Given the description of an element on the screen output the (x, y) to click on. 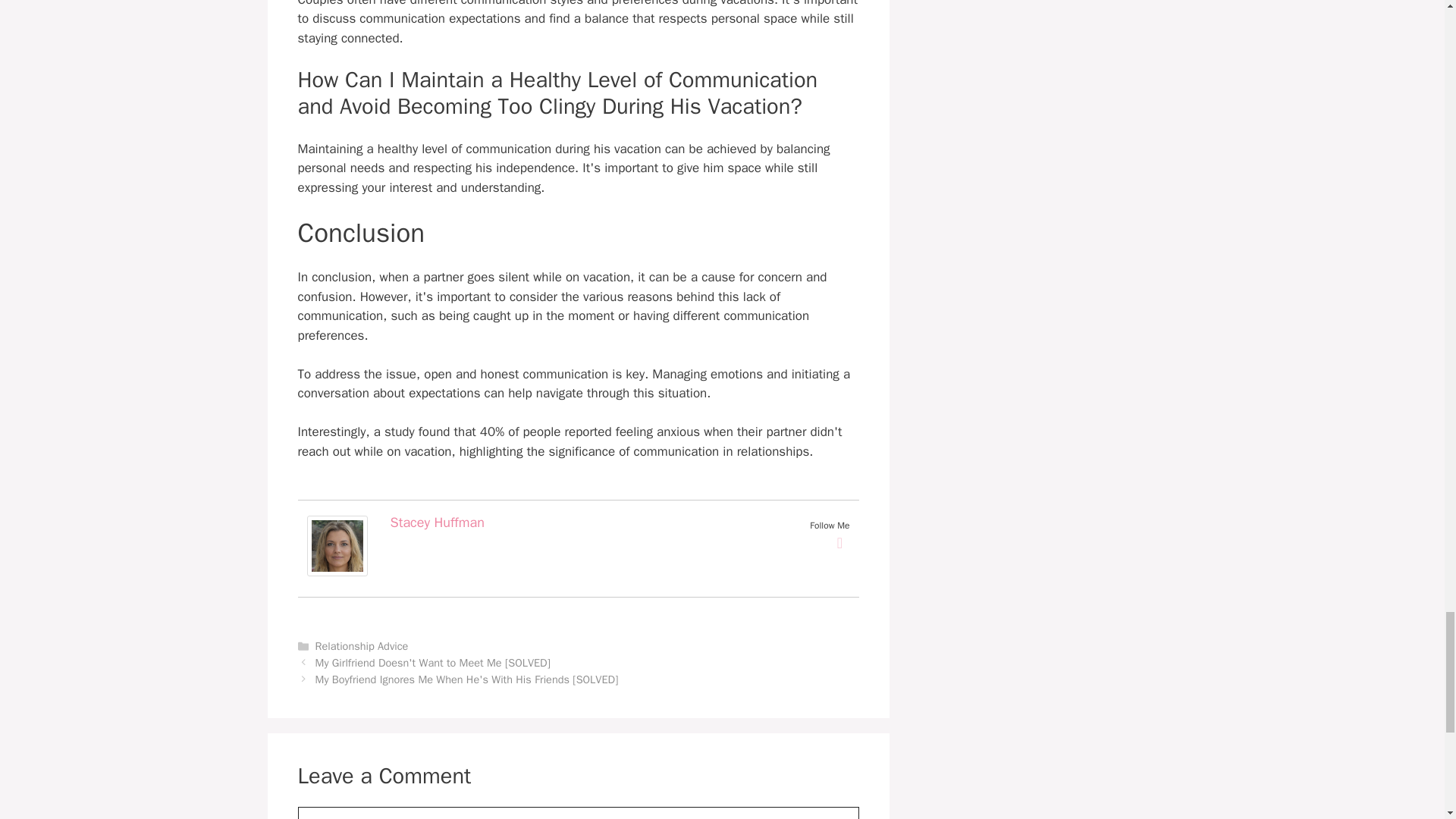
Relationship Advice (362, 645)
Stacey Huffman (335, 571)
Stacey Huffman (436, 522)
Twitter (839, 542)
